Given the description of an element on the screen output the (x, y) to click on. 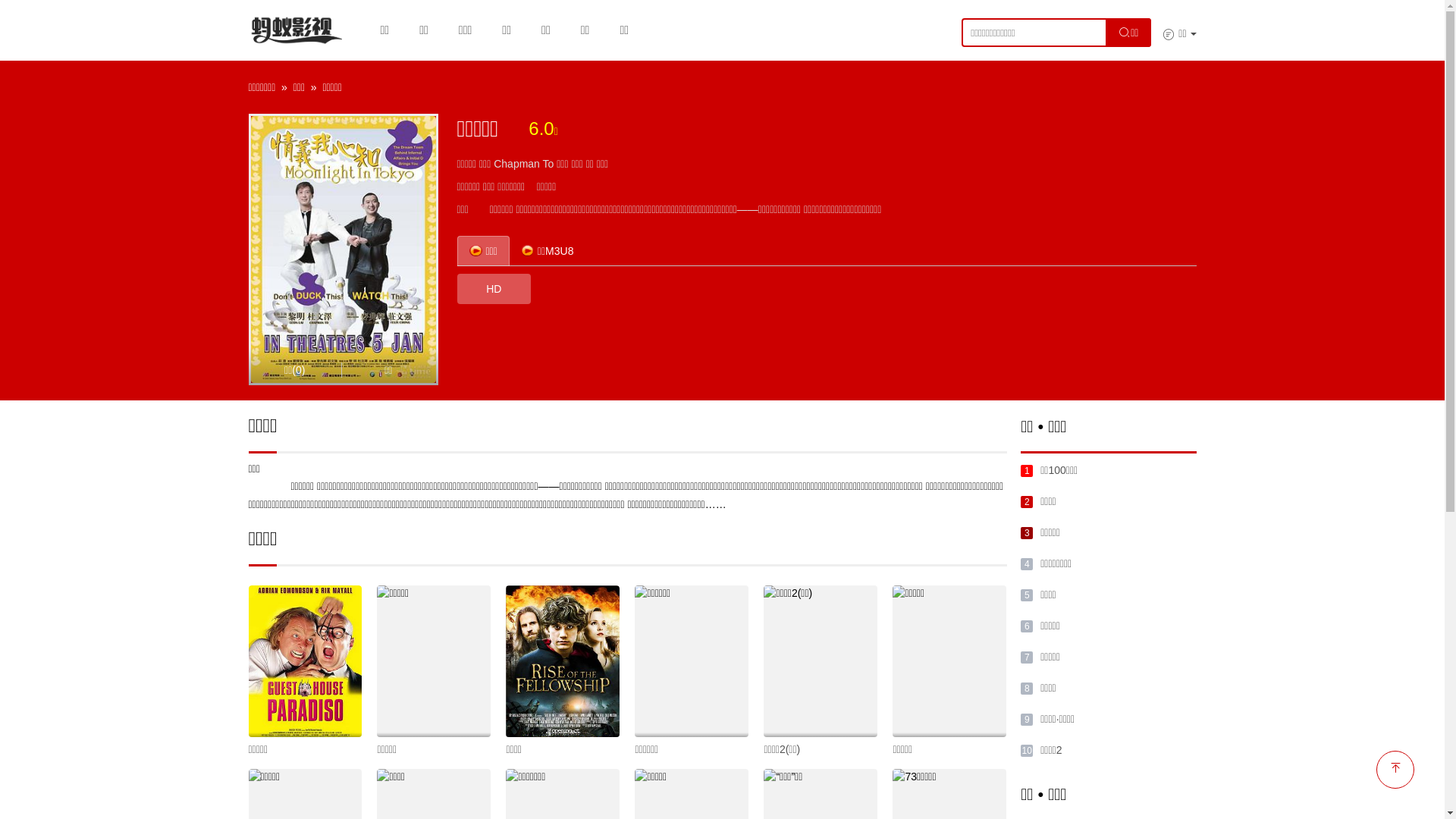
logo Element type: hover (295, 30)
To Element type: text (548, 163)
Chapman Element type: text (516, 163)
HD Element type: text (493, 288)
